Given the description of an element on the screen output the (x, y) to click on. 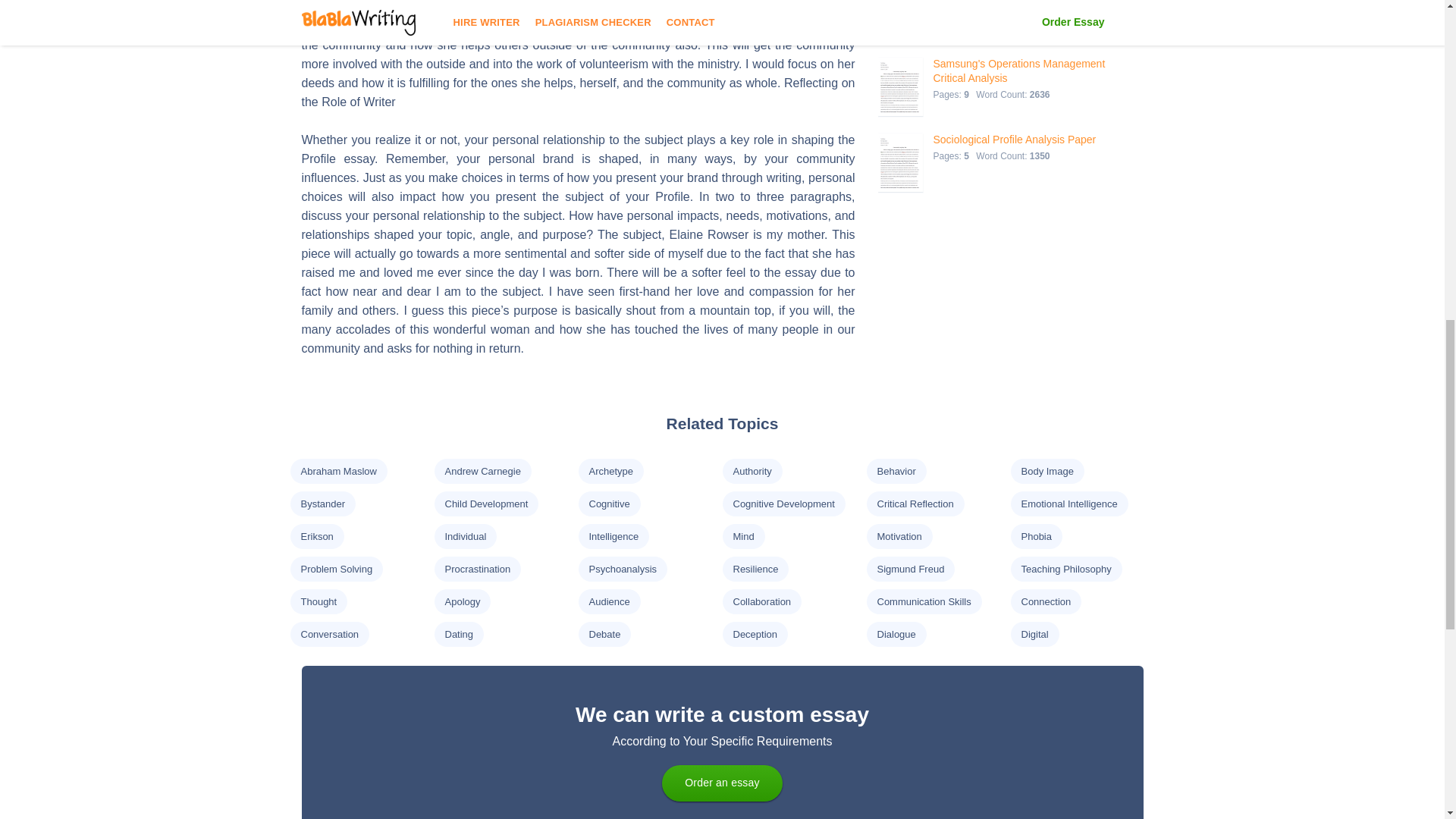
Body Image (1046, 471)
Authority (751, 471)
Archetype (610, 471)
Bystander (322, 503)
Behavior (895, 471)
Sociological Profile Analysis Paper (1014, 139)
Abraham Maslow (337, 471)
Andrew Carnegie (481, 471)
Samsung's Operations Management Critical Analysis (1025, 70)
